Given the description of an element on the screen output the (x, y) to click on. 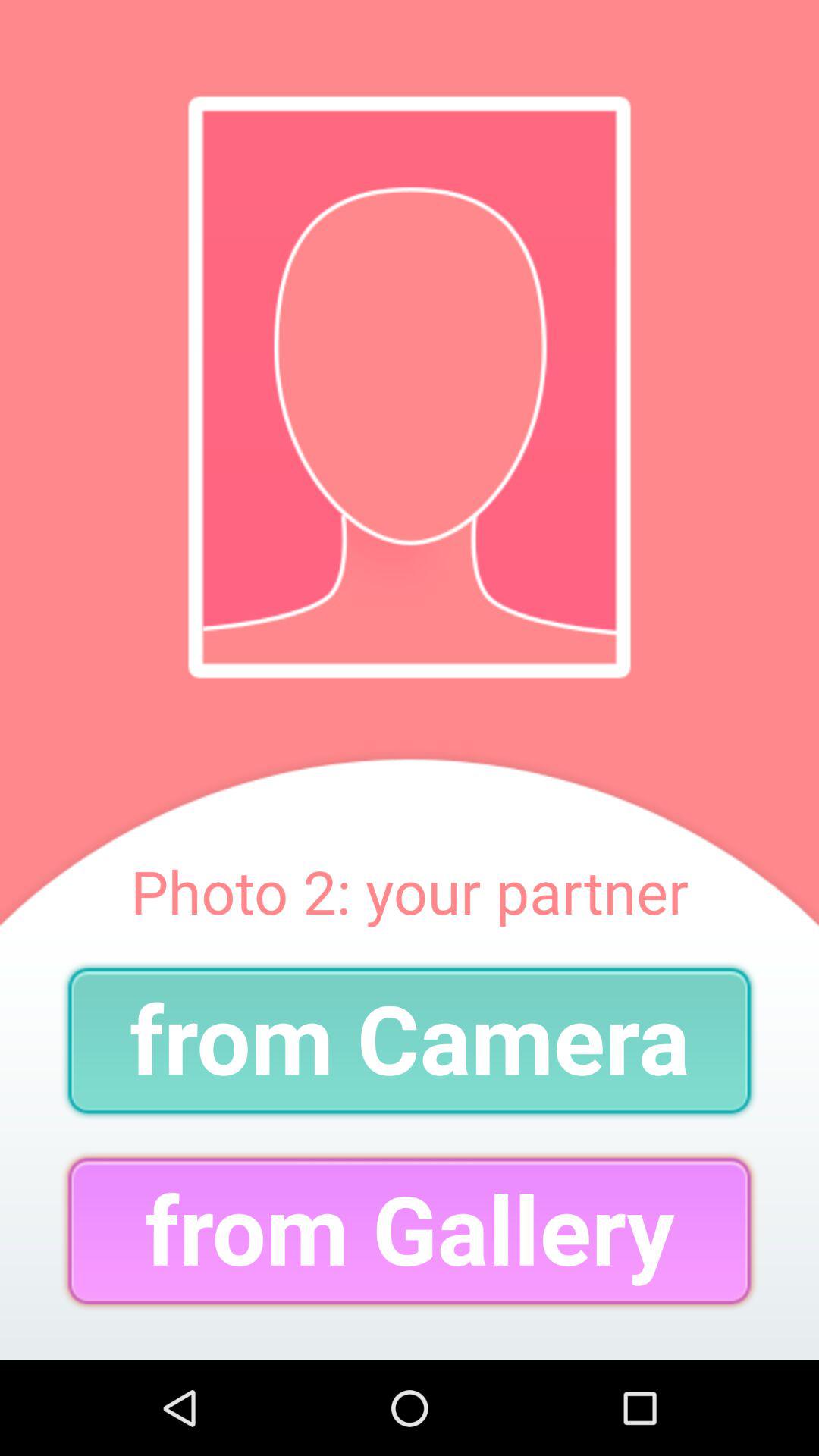
open the item below the from camera (409, 1230)
